Given the description of an element on the screen output the (x, y) to click on. 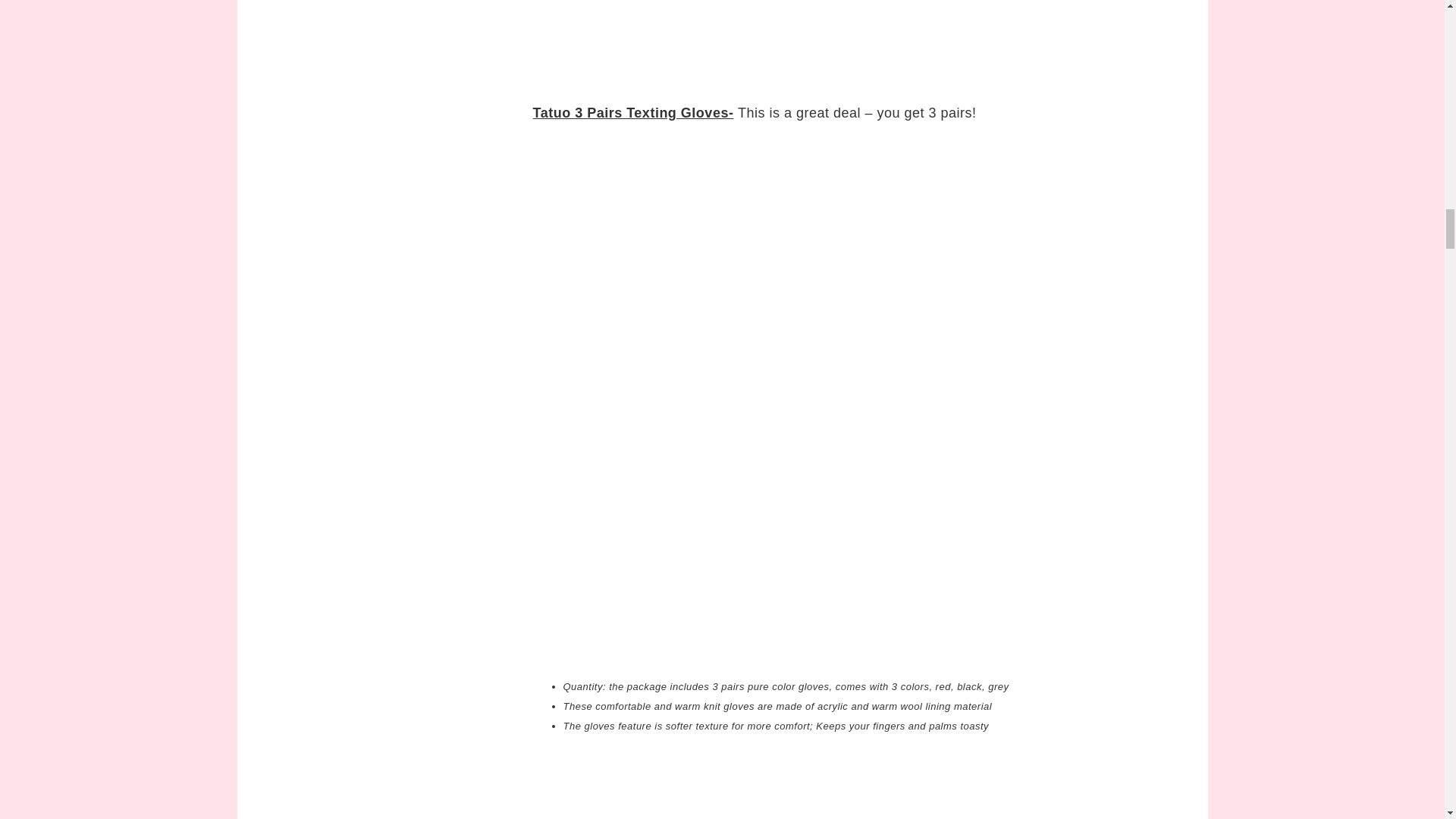
Tatuo 3 Pairs Texting Gloves- (632, 112)
